Given the description of an element on the screen output the (x, y) to click on. 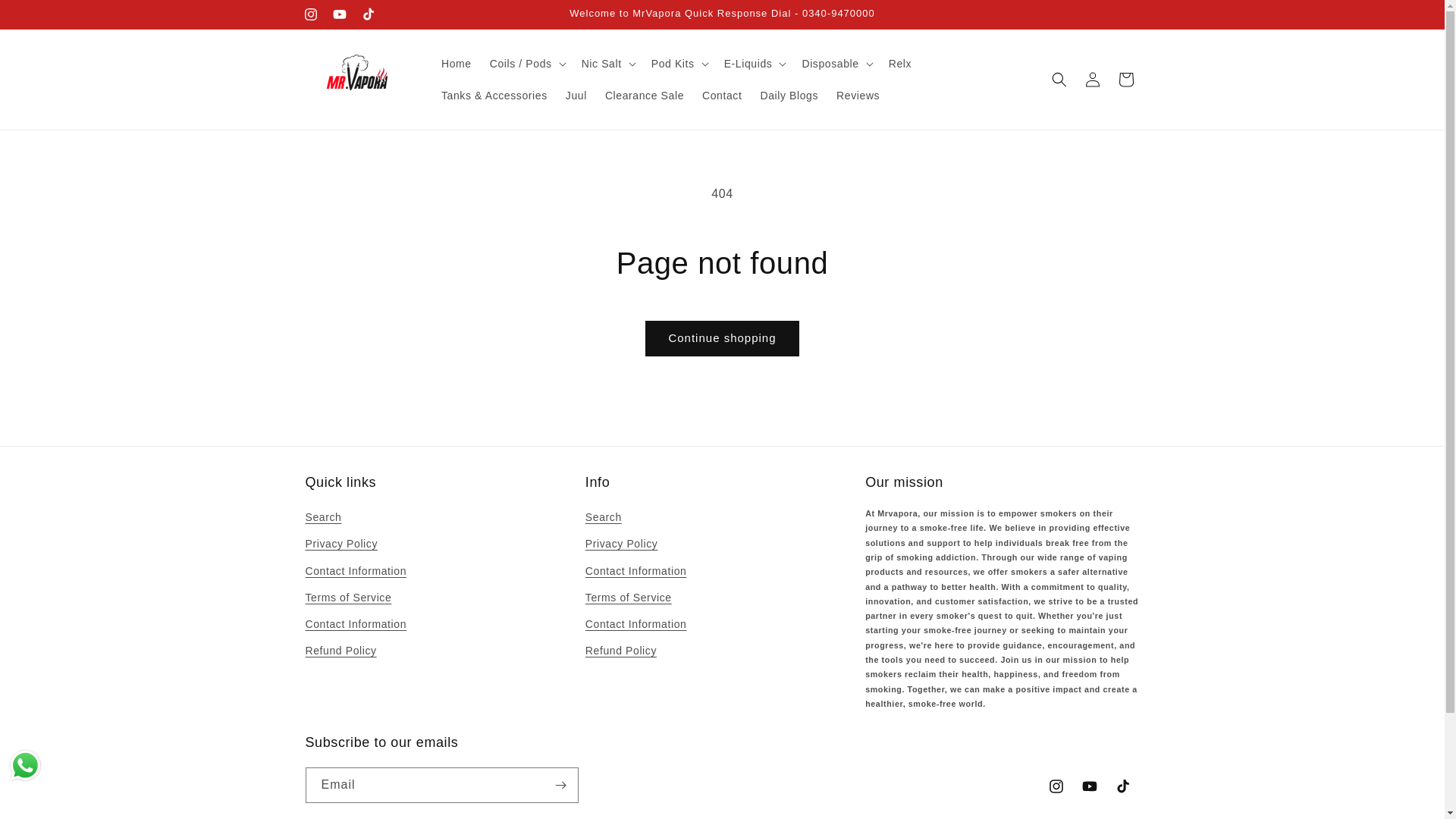
Skip to content (45, 17)
Instagram (309, 14)
TikTok (367, 14)
YouTube (338, 14)
